Given the description of an element on the screen output the (x, y) to click on. 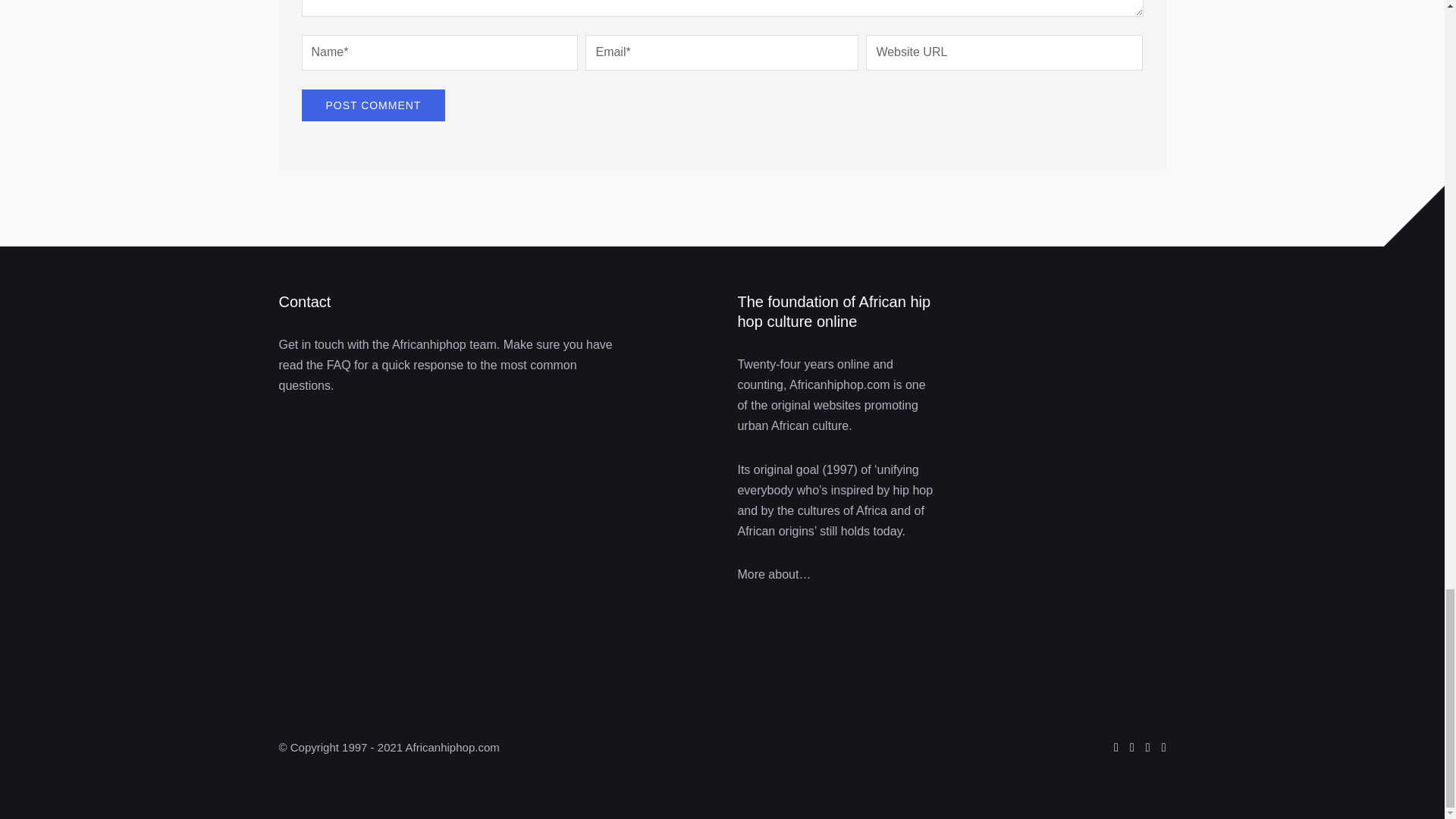
Post Comment (373, 105)
